Given the description of an element on the screen output the (x, y) to click on. 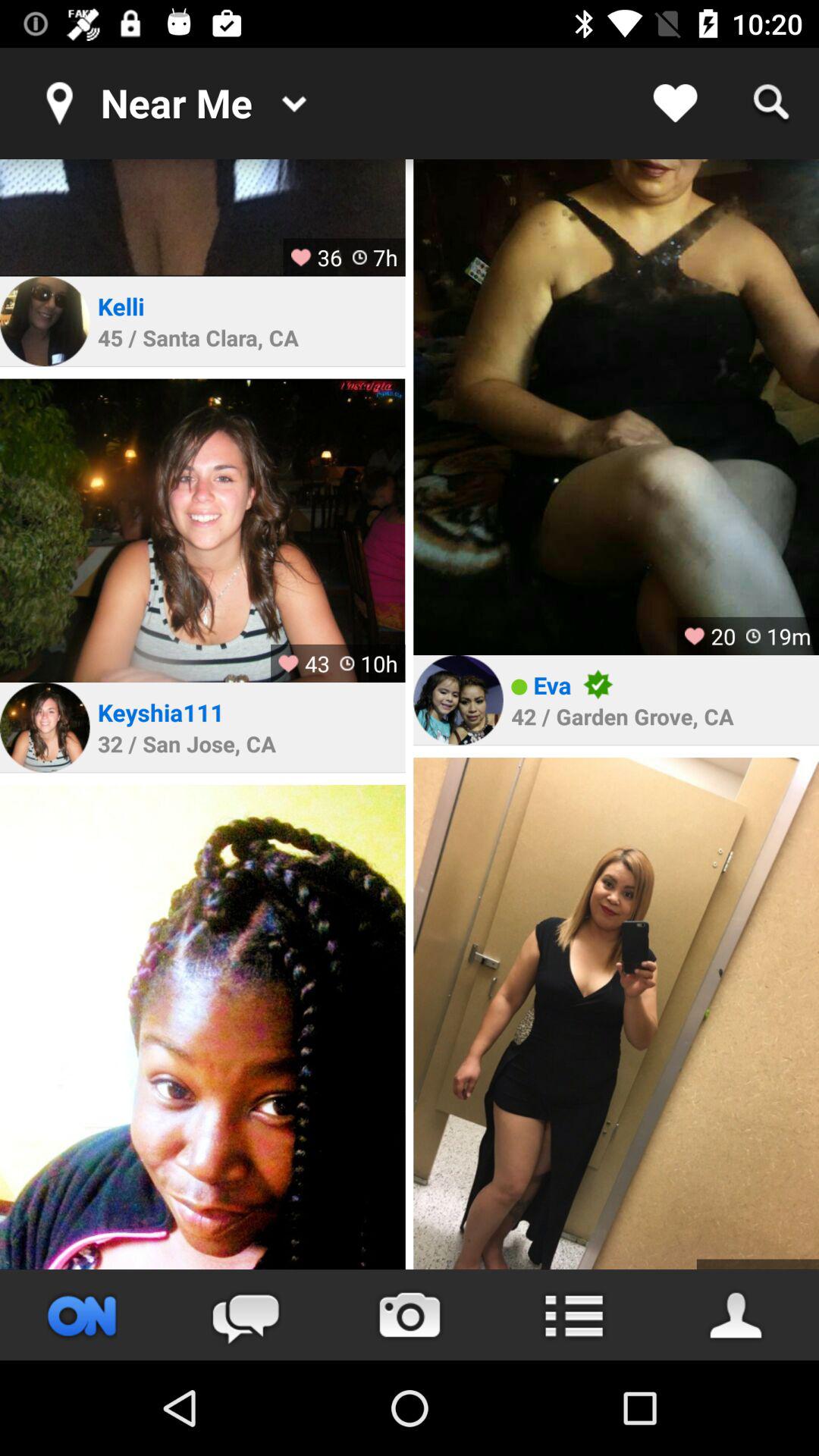
see online users (81, 1315)
